Given the description of an element on the screen output the (x, y) to click on. 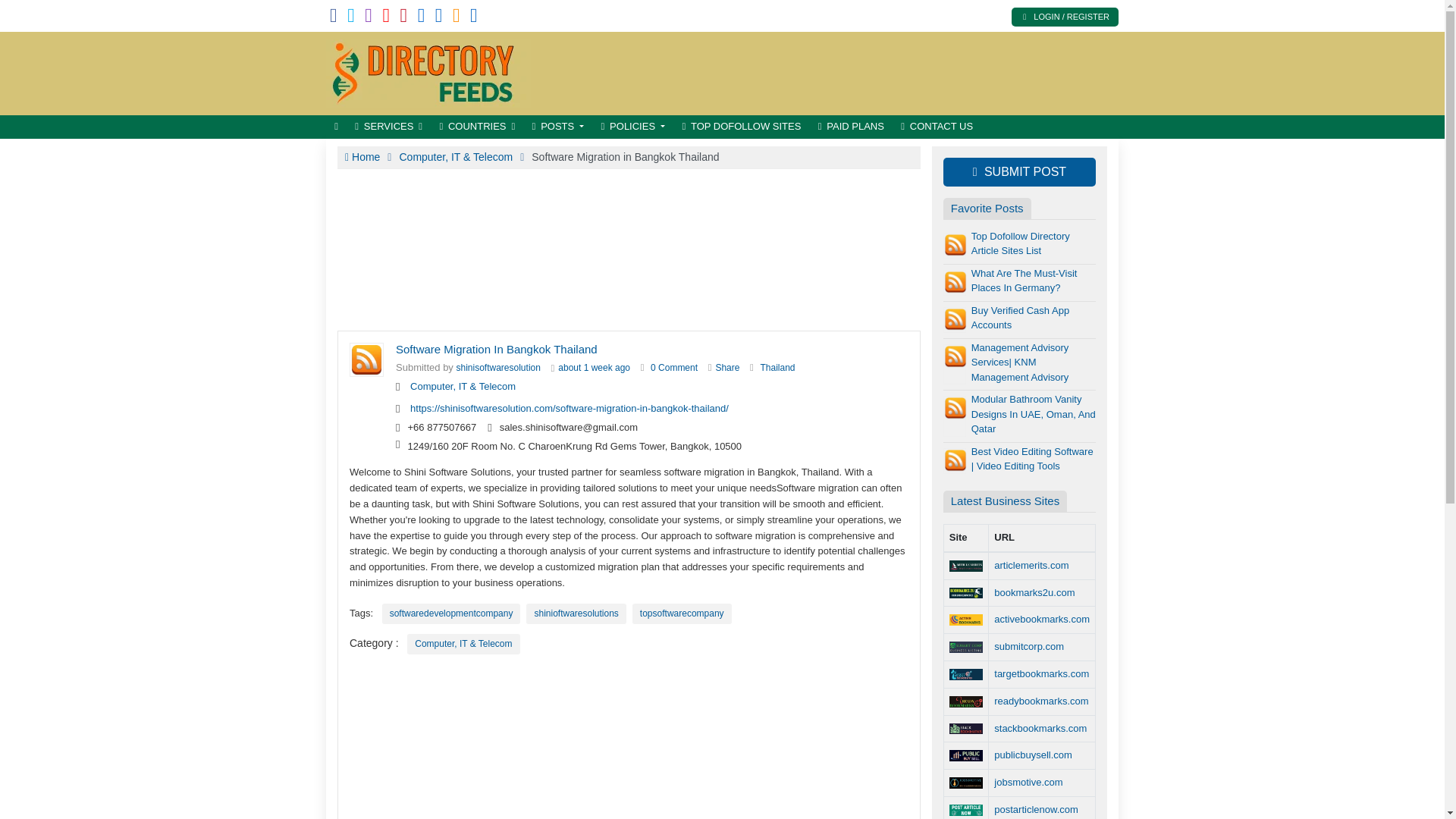
Advertisement (842, 73)
SERVICES (388, 126)
Directory Feed Service for Search Engine Optimization (428, 71)
